Given the description of an element on the screen output the (x, y) to click on. 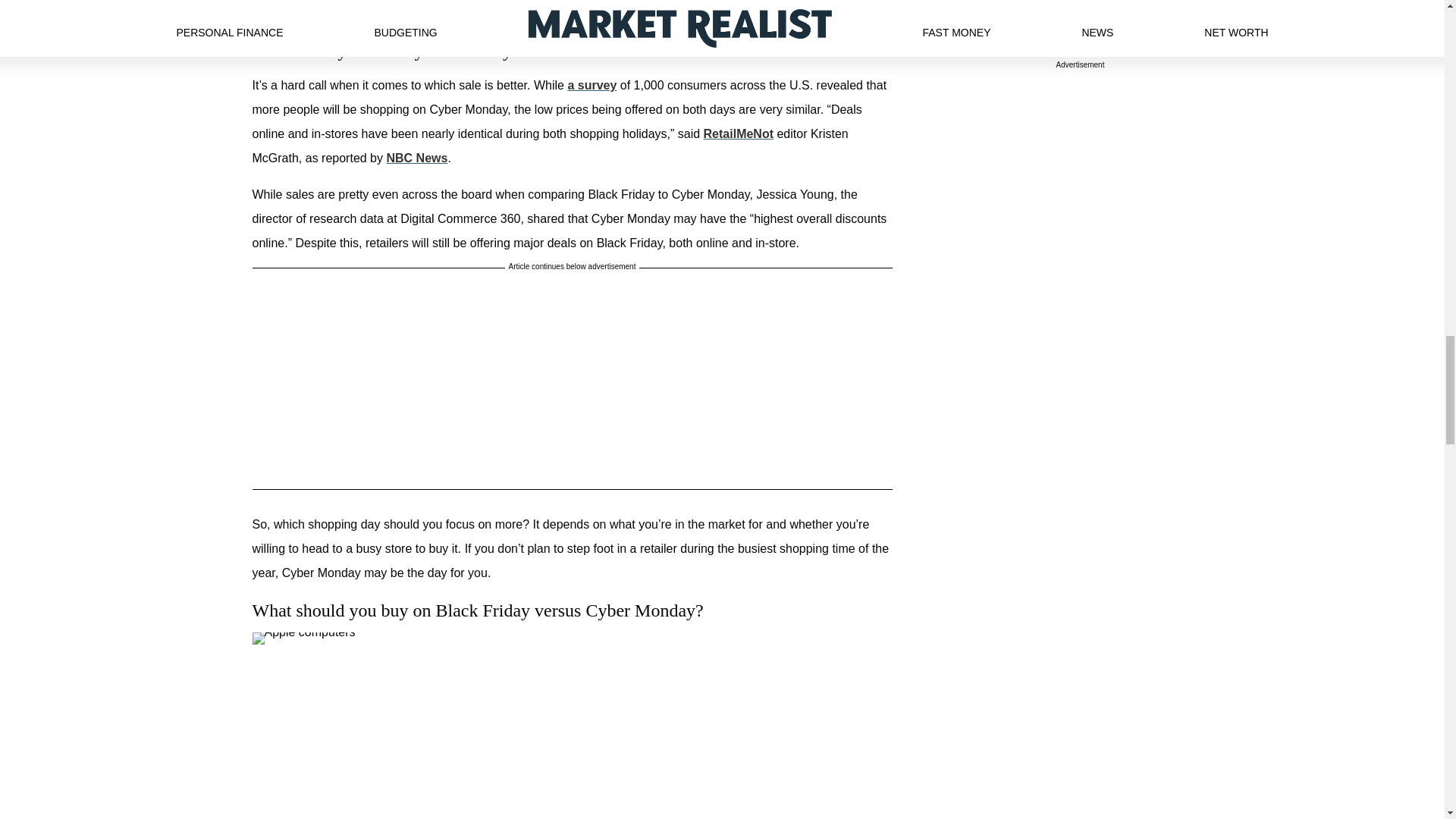
RetailMeNot (738, 133)
NBC News (415, 157)
a survey (591, 84)
